Given the description of an element on the screen output the (x, y) to click on. 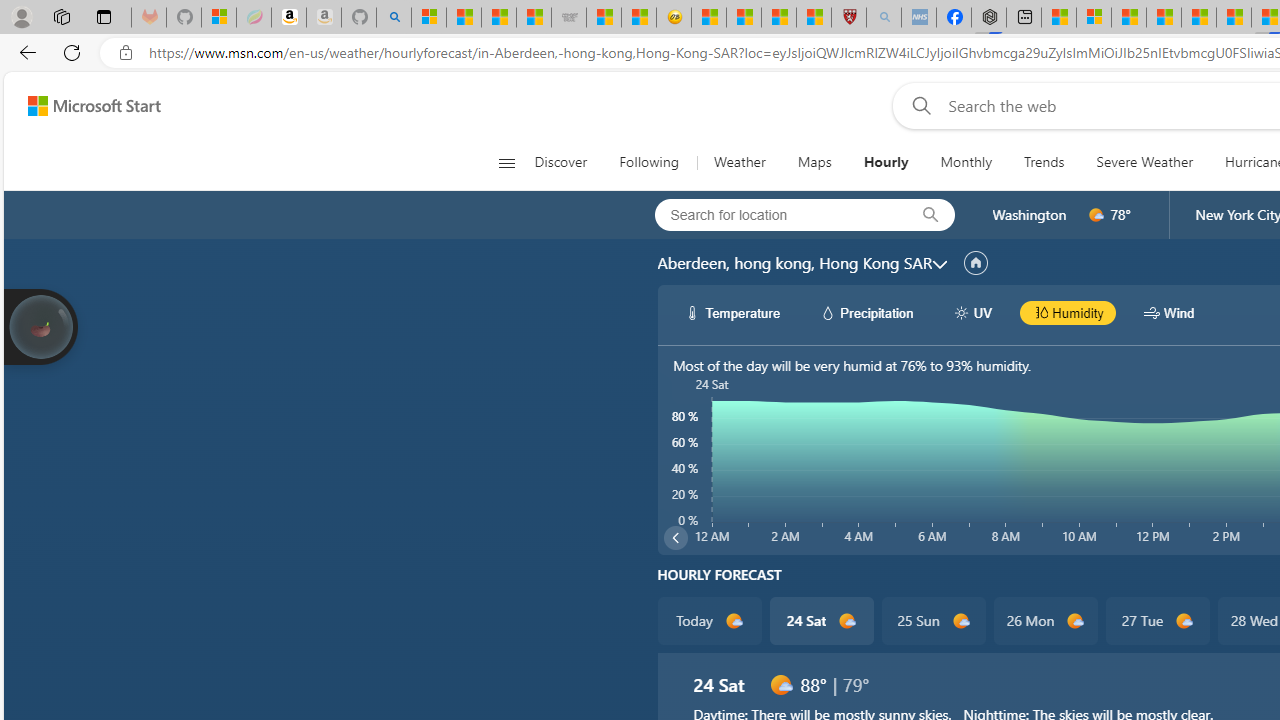
common/carouselChevron (675, 538)
hourlyChart/windWhite Wind (1169, 312)
hourlyChart/uvWhite (961, 312)
hourlyChart/humidityBlack (1040, 312)
Aberdeen, hong kong, Hong Kong SAR (794, 263)
Maps (814, 162)
locationBar/search (930, 215)
